Given the description of an element on the screen output the (x, y) to click on. 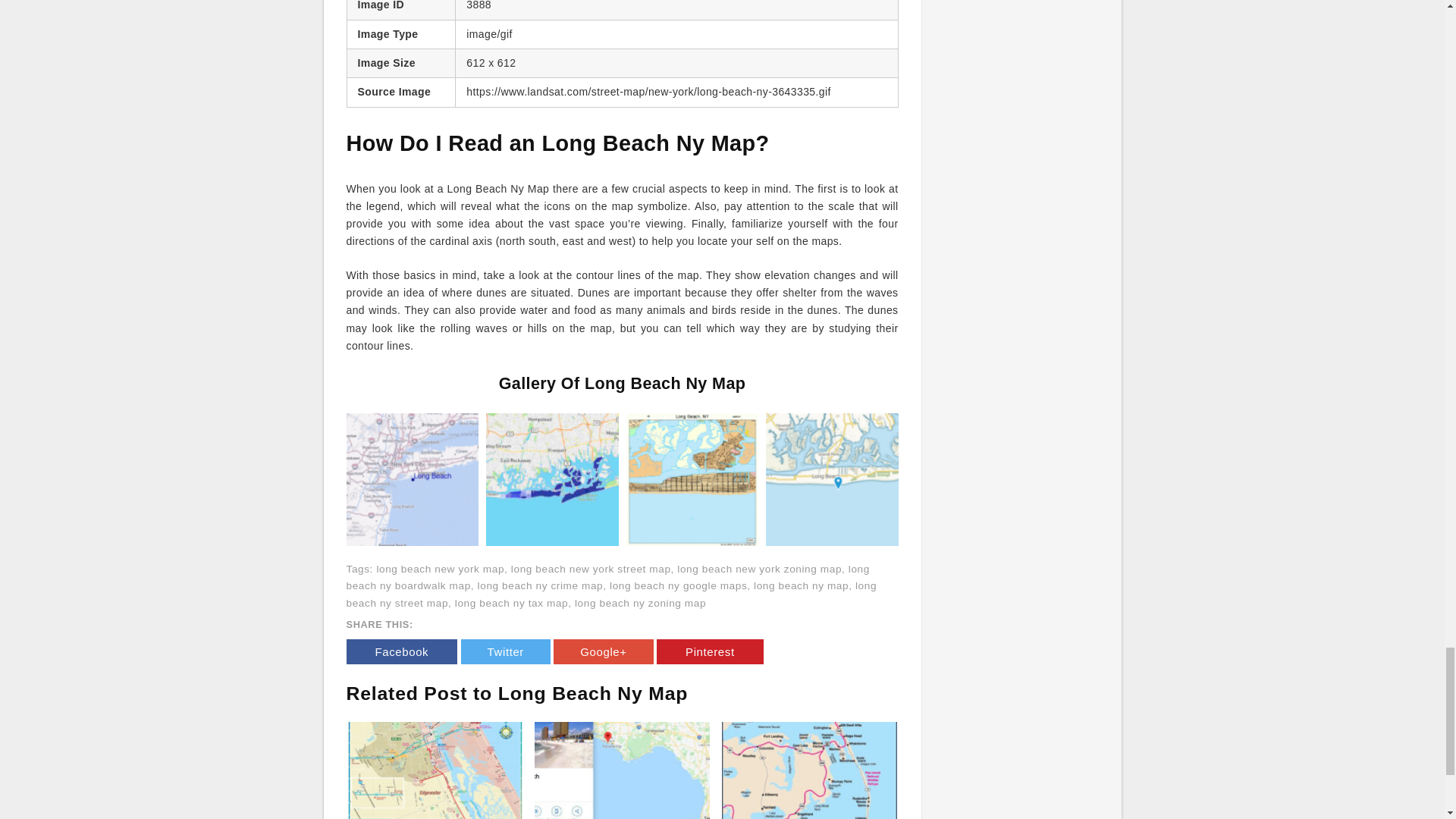
Long Beach NY Crime Rates And Statistics NeighborhoodScout (552, 478)
long beach ny street map (611, 594)
long beach ny map (801, 585)
long beach ny tax map (510, 603)
Long Beach New York Street Map 3643335 (692, 478)
long beach new york street map (591, 568)
Long Beach New York Street Map 3643335 (692, 479)
long beach new york zoning map (759, 568)
Facebook (401, 651)
long beach ny crime map (540, 585)
long beach new york map (439, 568)
Long Beach New York Map Zip Code Map (831, 478)
long beach ny boardwalk map (607, 577)
Long Beach NY Crime Rates And Statistics NeighborhoodScout (552, 479)
